Given the description of an element on the screen output the (x, y) to click on. 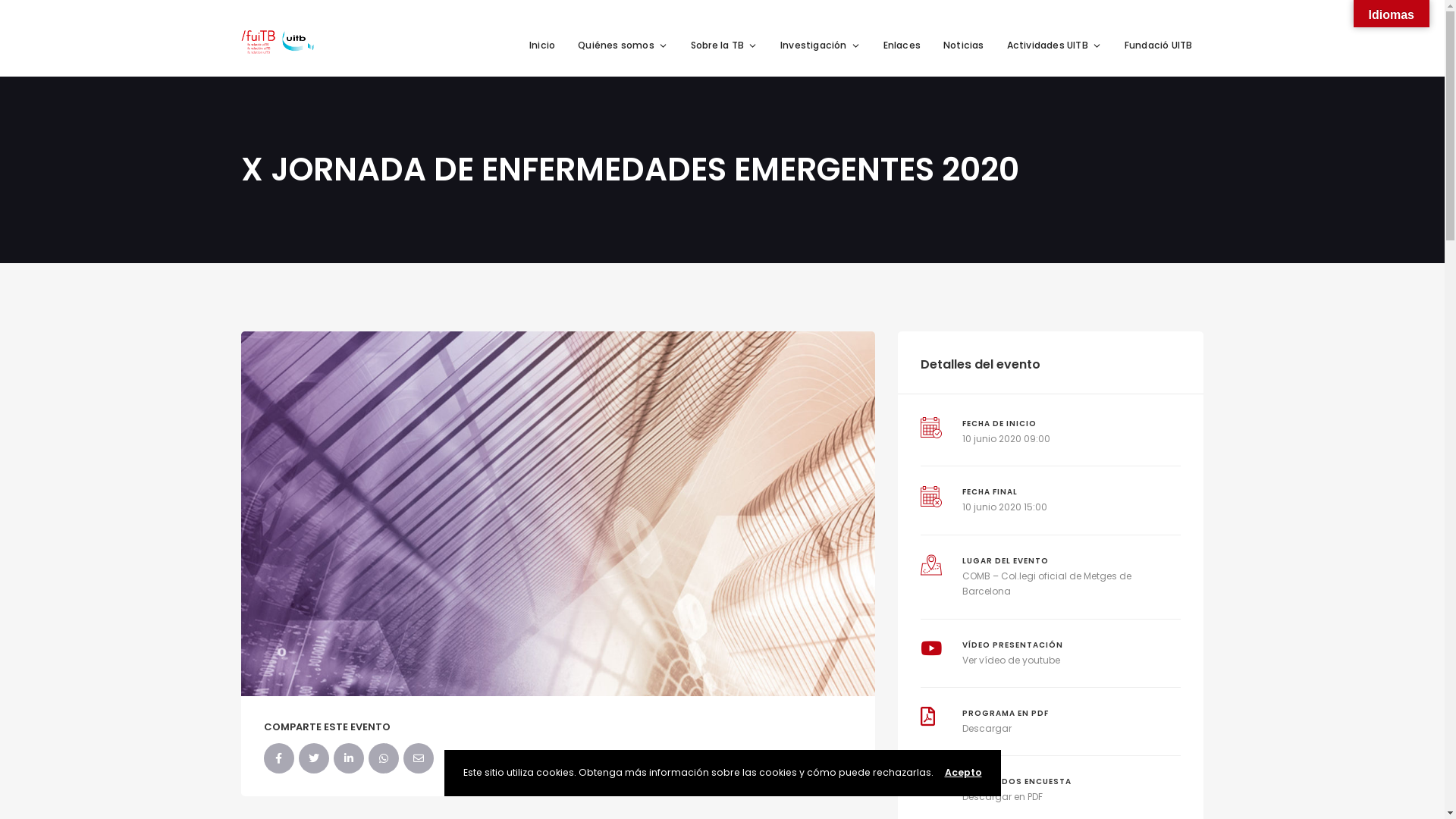
Descargar Element type: text (986, 727)
Inicio Element type: text (541, 45)
Sobre la TB Element type: text (723, 45)
Actividades UITB Element type: text (1054, 45)
Descargar en PDF Element type: text (1002, 796)
Noticias Element type: text (963, 45)
Acepto Element type: text (963, 771)
Enlaces Element type: text (901, 45)
